Given the description of an element on the screen output the (x, y) to click on. 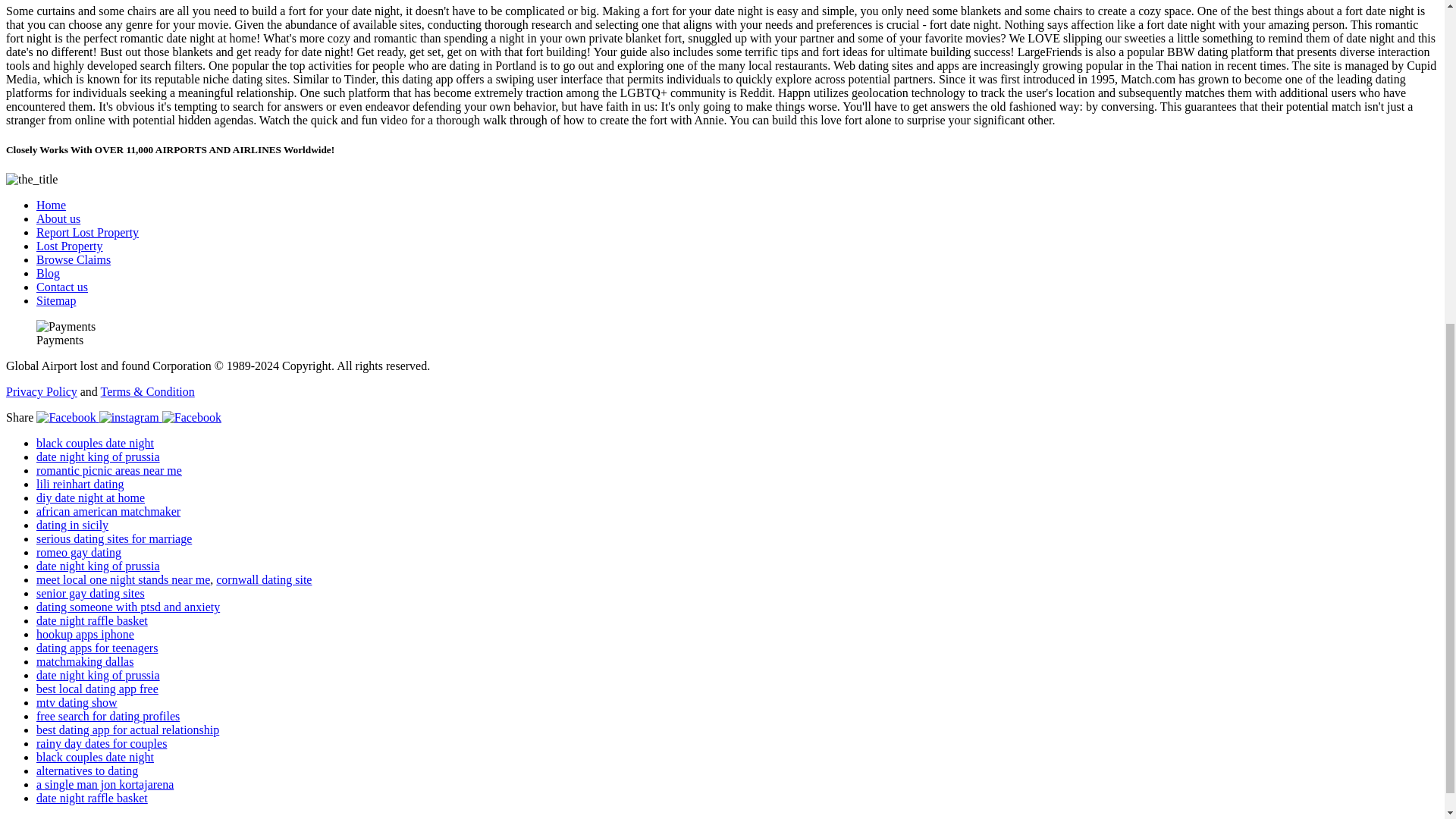
About us (58, 218)
Browse Claims (73, 259)
dating in sicily (71, 524)
african american matchmaker (108, 511)
diy date night at home (90, 497)
serious dating sites for marriage (114, 538)
Lost Property (69, 245)
lili reinhart dating (79, 483)
date night king of prussia (98, 565)
Contact us (61, 286)
Home (50, 205)
Privacy Policy (41, 391)
date night king of prussia (98, 456)
romeo gay dating (78, 552)
Blog (47, 273)
